Given the description of an element on the screen output the (x, y) to click on. 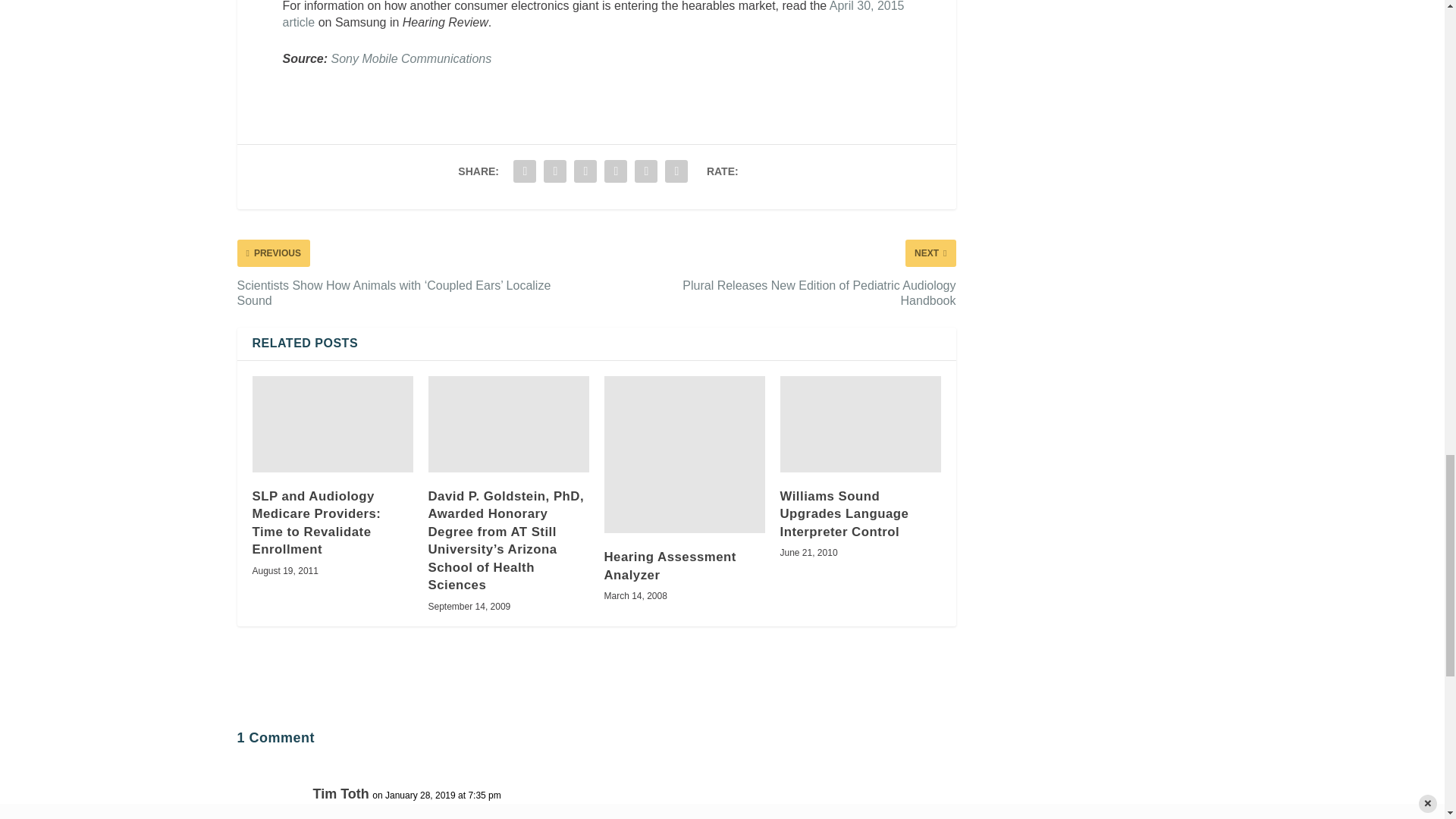
Sony Mobile news announcement (411, 58)
